Given the description of an element on the screen output the (x, y) to click on. 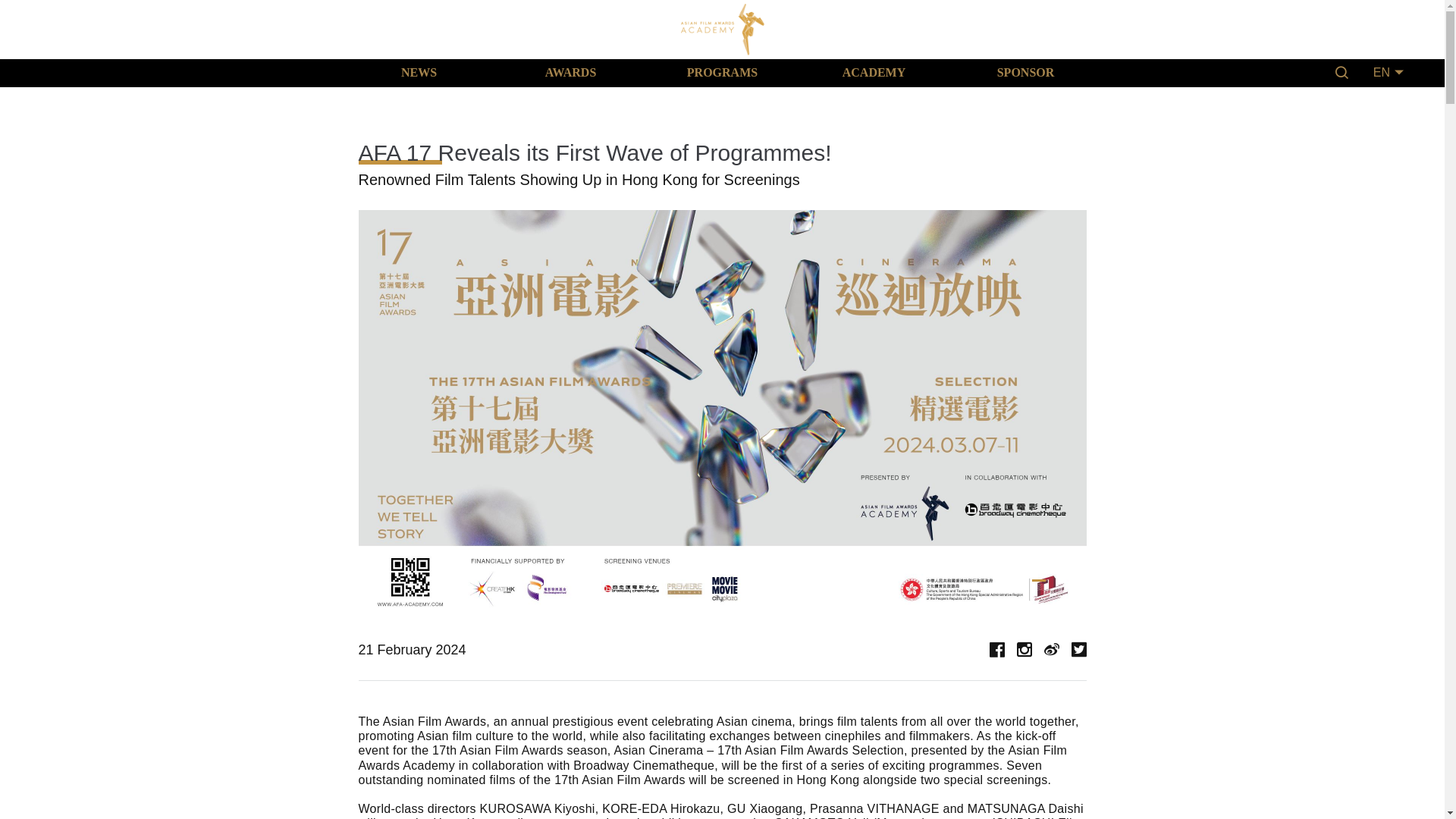
1 (1037, 580)
PROGRAMS (721, 72)
AWARDS (570, 72)
SPONSOR (1024, 72)
ACADEMY (873, 72)
NEWS (418, 72)
